Given the description of an element on the screen output the (x, y) to click on. 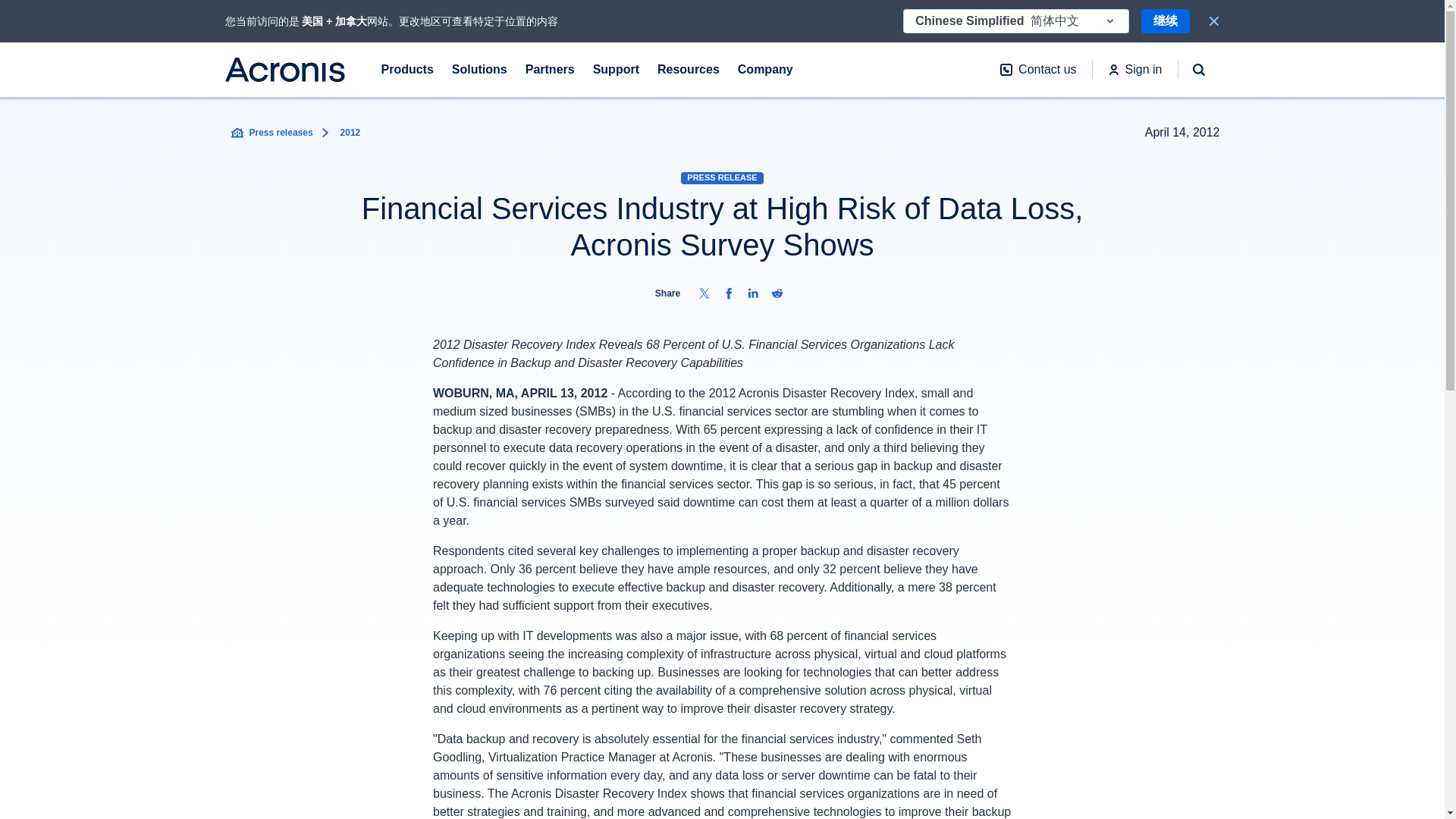
Acronis (283, 69)
